Given the description of an element on the screen output the (x, y) to click on. 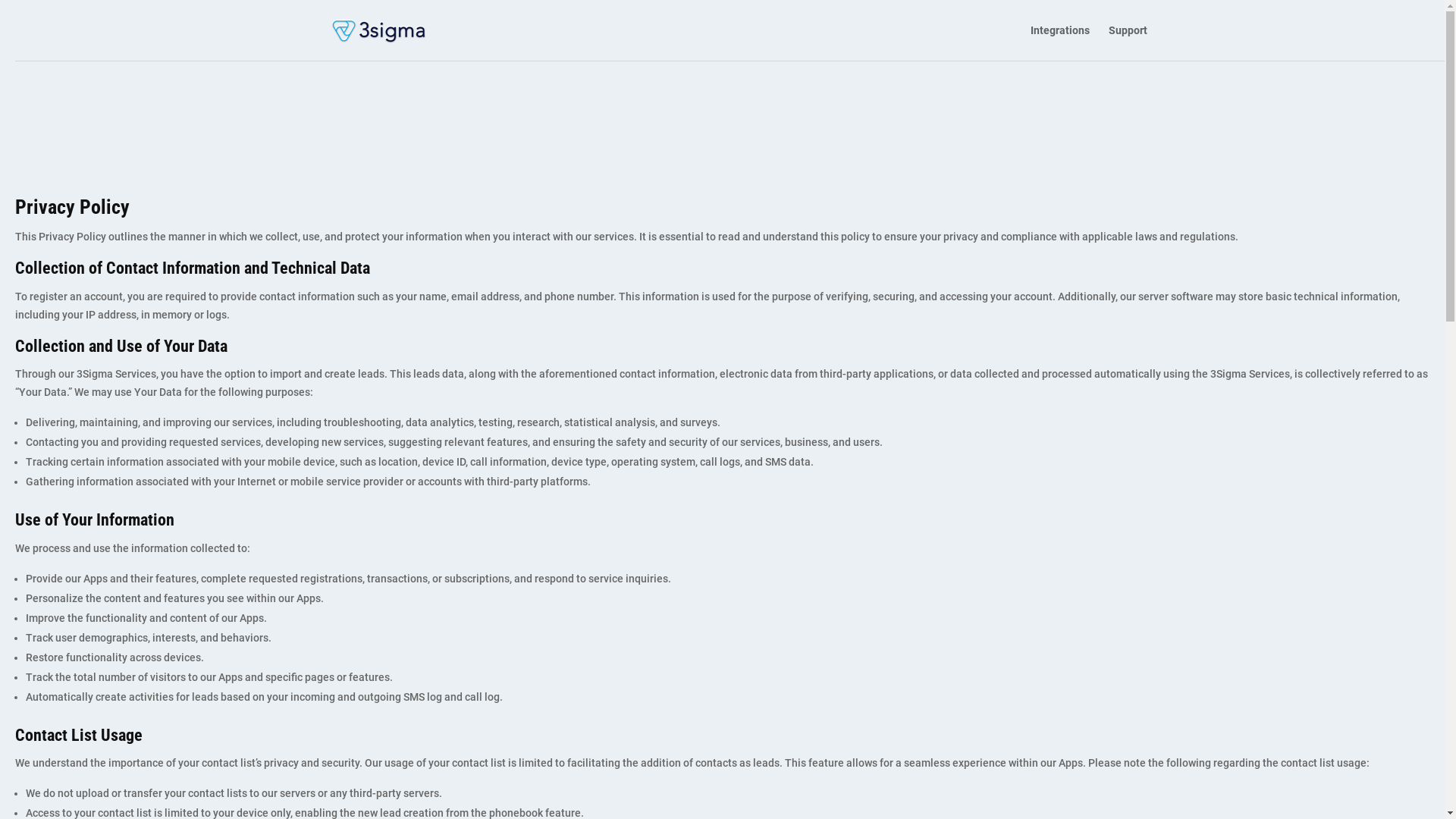
Integrations Element type: text (1058, 42)
Support Element type: text (1127, 42)
